Given the description of an element on the screen output the (x, y) to click on. 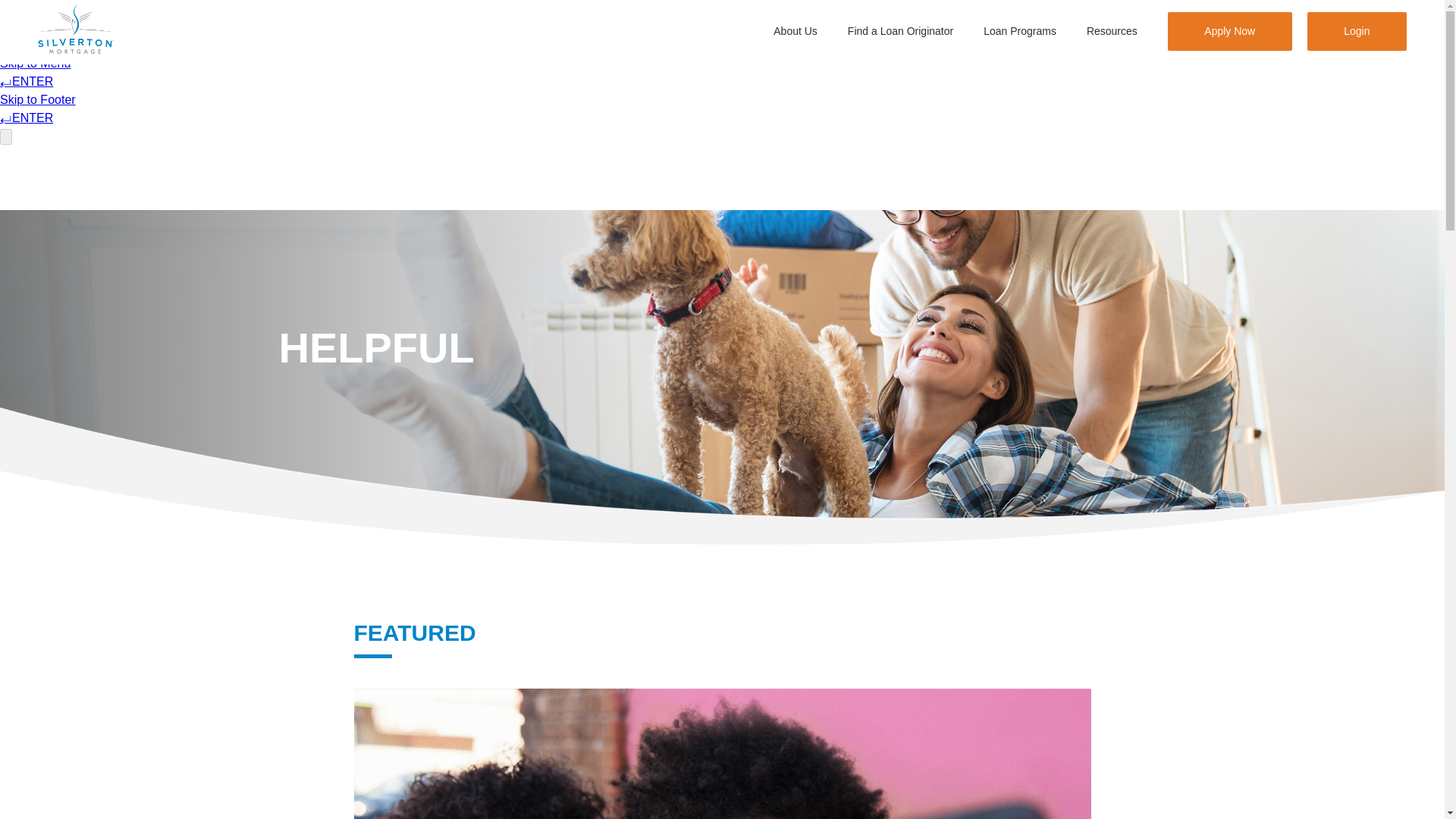
Resources (1111, 33)
Loan Programs (1020, 33)
About Us (794, 33)
Find a Loan Originator (900, 33)
Login (1356, 31)
Apply Now (1229, 31)
